Given the description of an element on the screen output the (x, y) to click on. 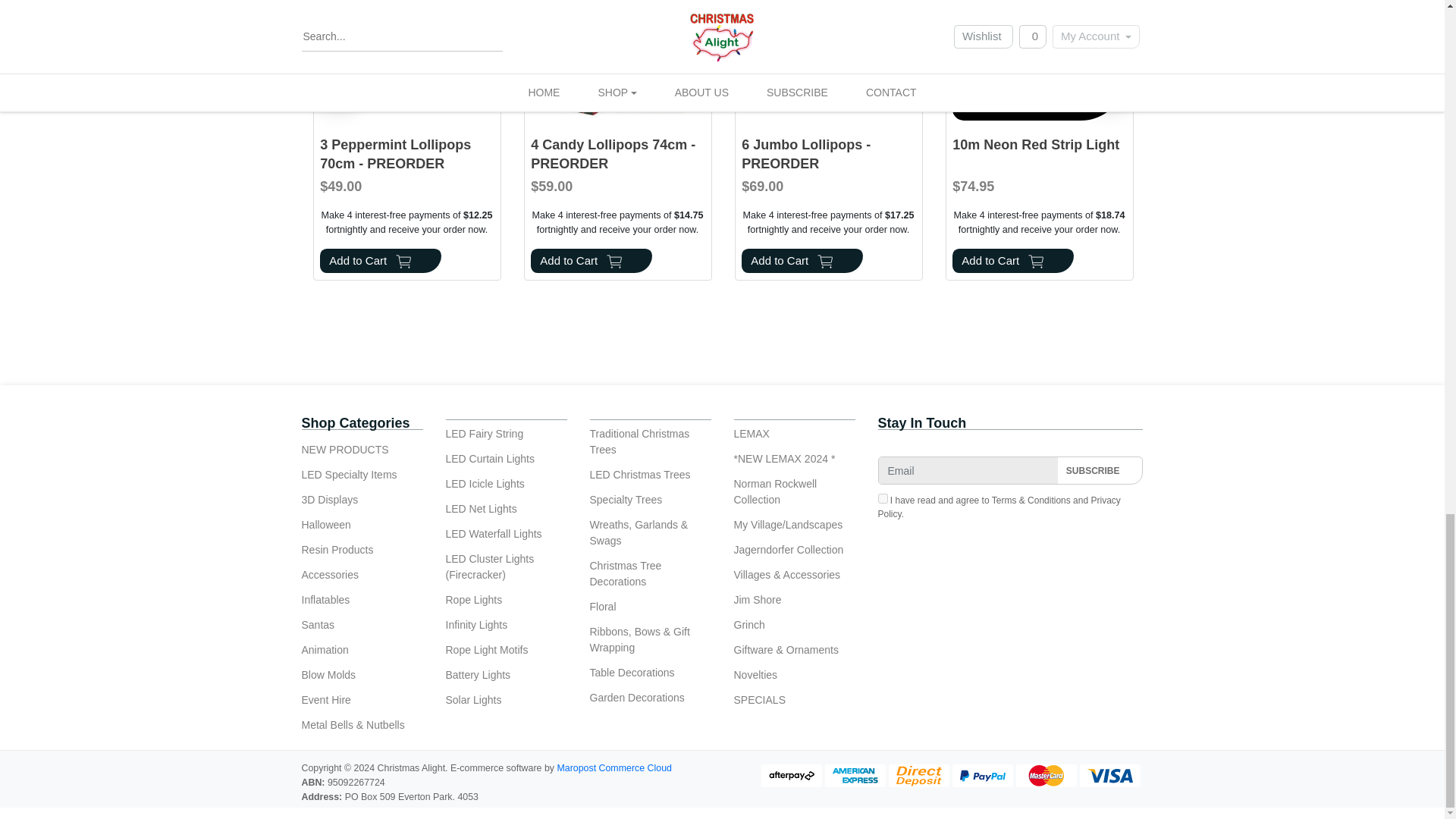
y (882, 498)
Subscribe (1099, 470)
